Given the description of an element on the screen output the (x, y) to click on. 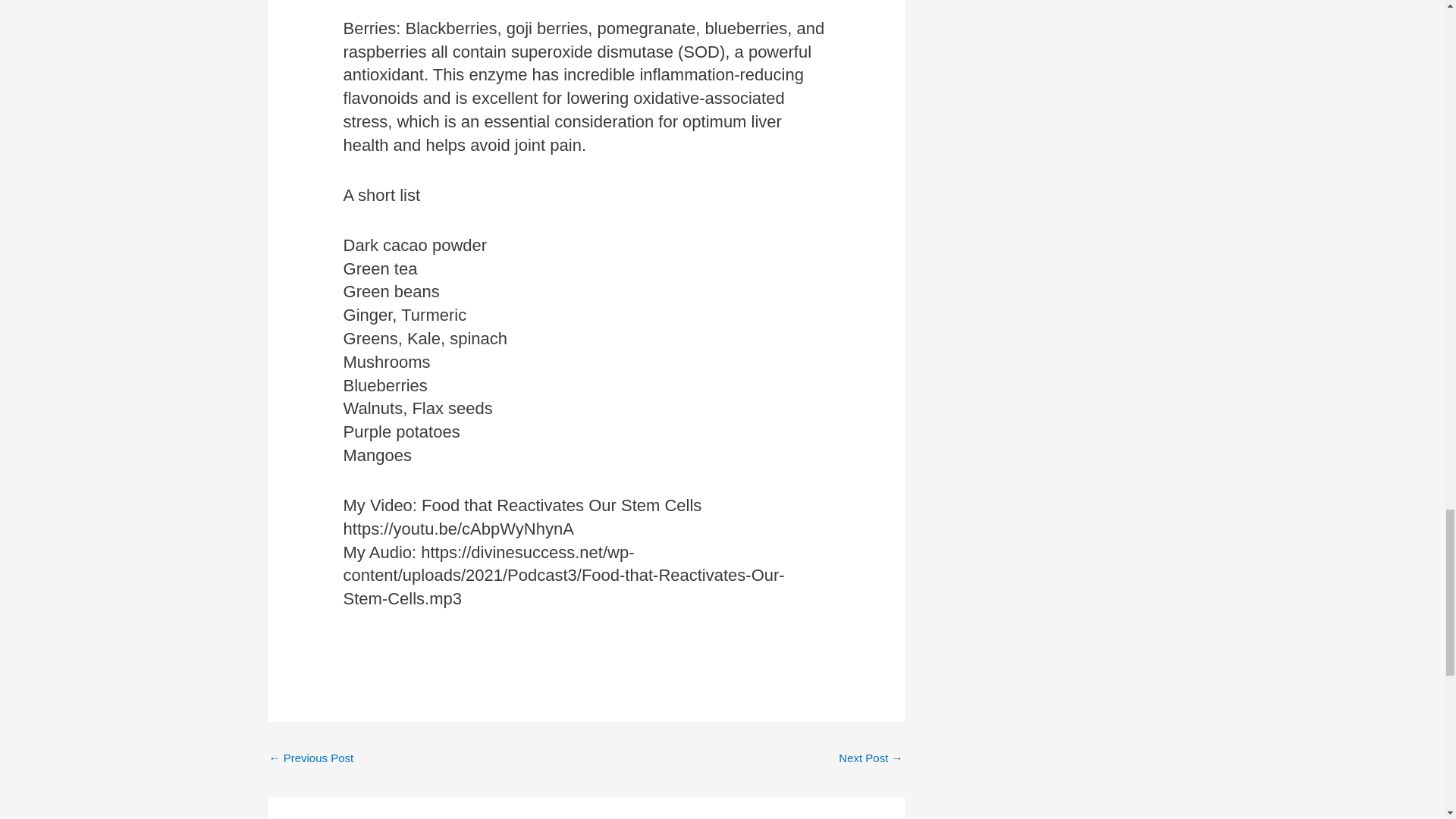
Why should we believe in God? (870, 759)
Success Does Not Exist (310, 759)
